Given the description of an element on the screen output the (x, y) to click on. 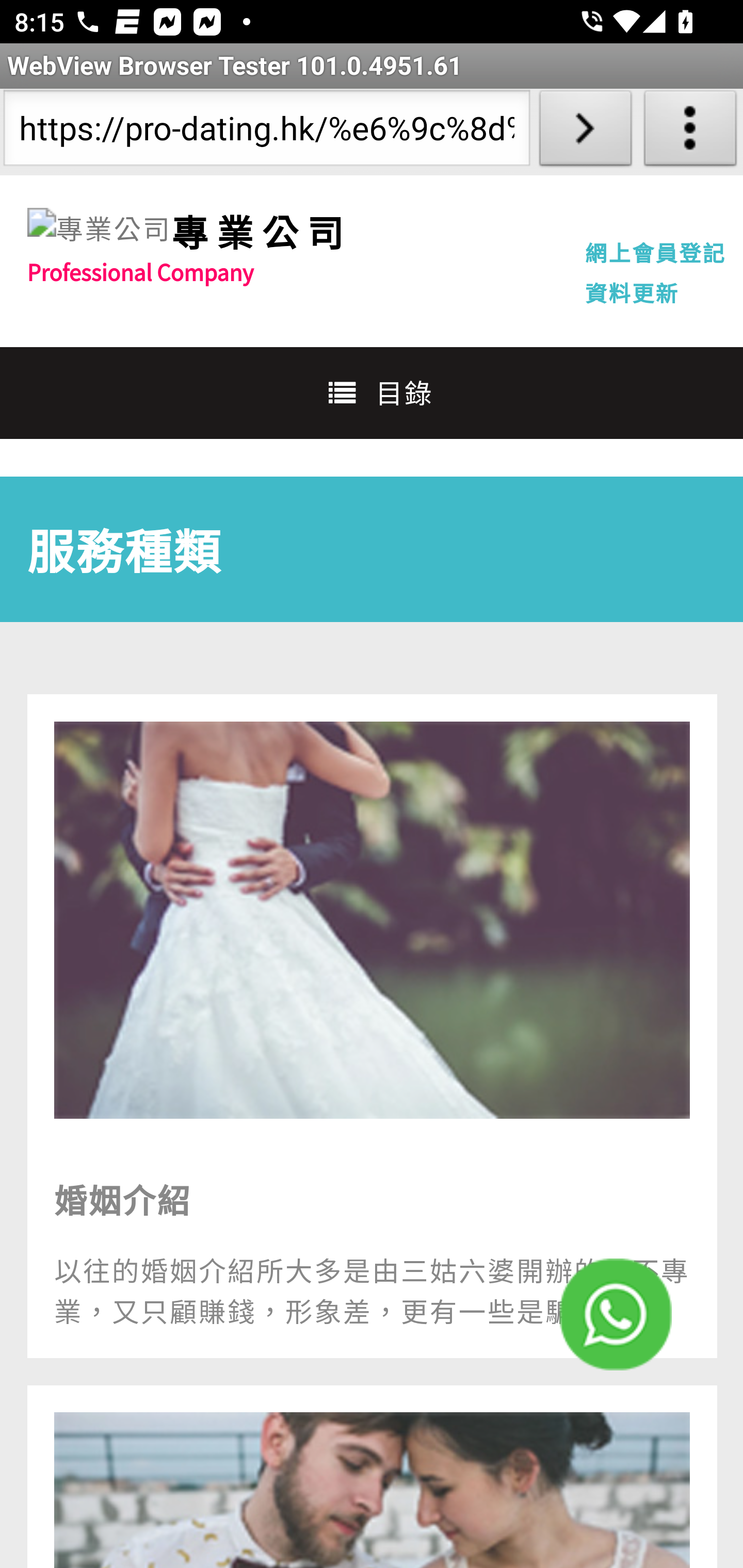
Load URL (585, 132)
About WebView (690, 132)
專業公司 (261, 230)
專業公司 (99, 228)
網上會員登記 (655, 251)
資料更新 (631, 292)
目錄  目錄 (371, 391)
sidewhatsapp (616, 1314)
